Given the description of an element on the screen output the (x, y) to click on. 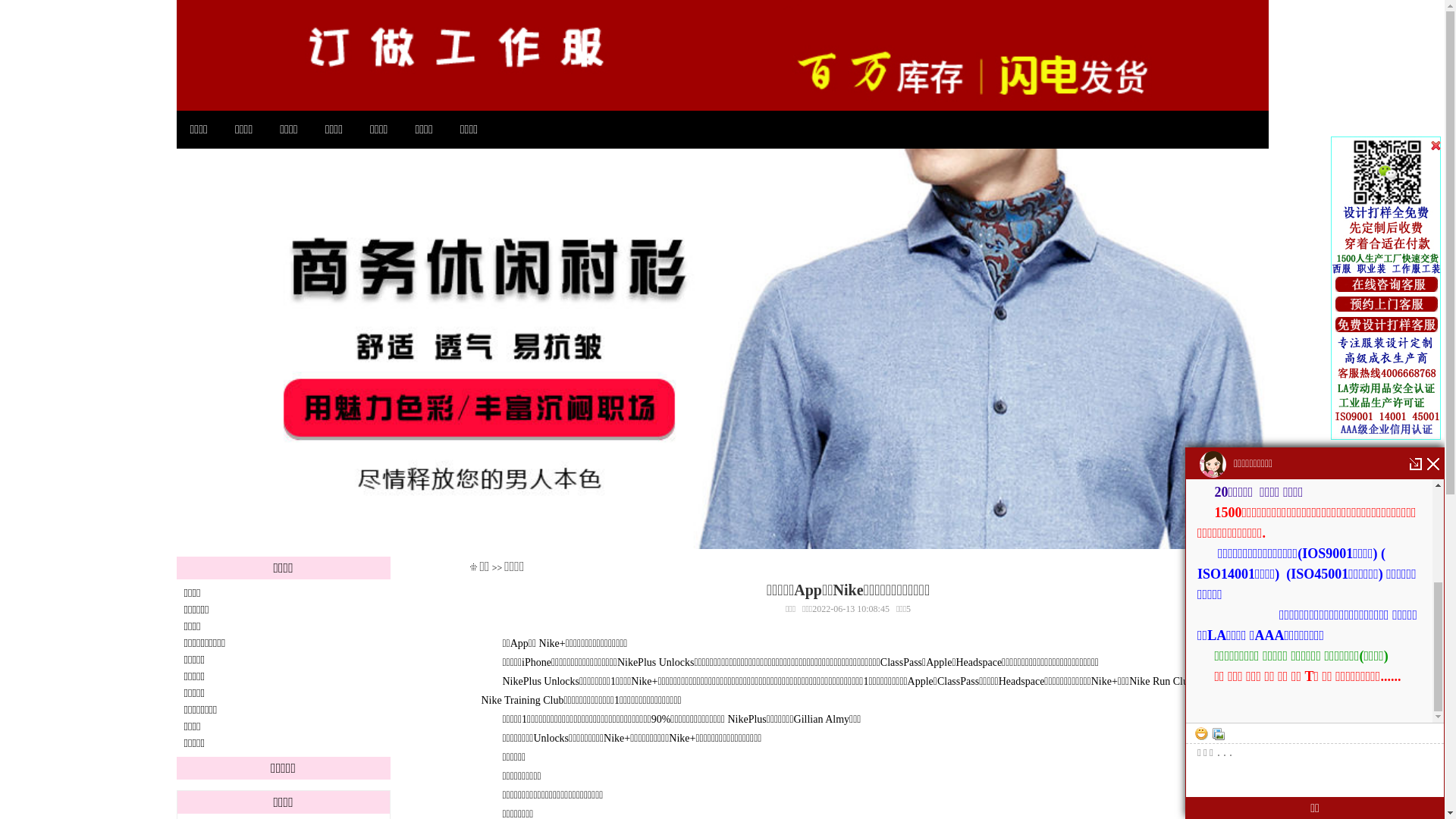
  Element type: text (1386, 324)
  Element type: text (1386, 303)
  Element type: text (1387, 287)
  Element type: text (1386, 283)
